Given the description of an element on the screen output the (x, y) to click on. 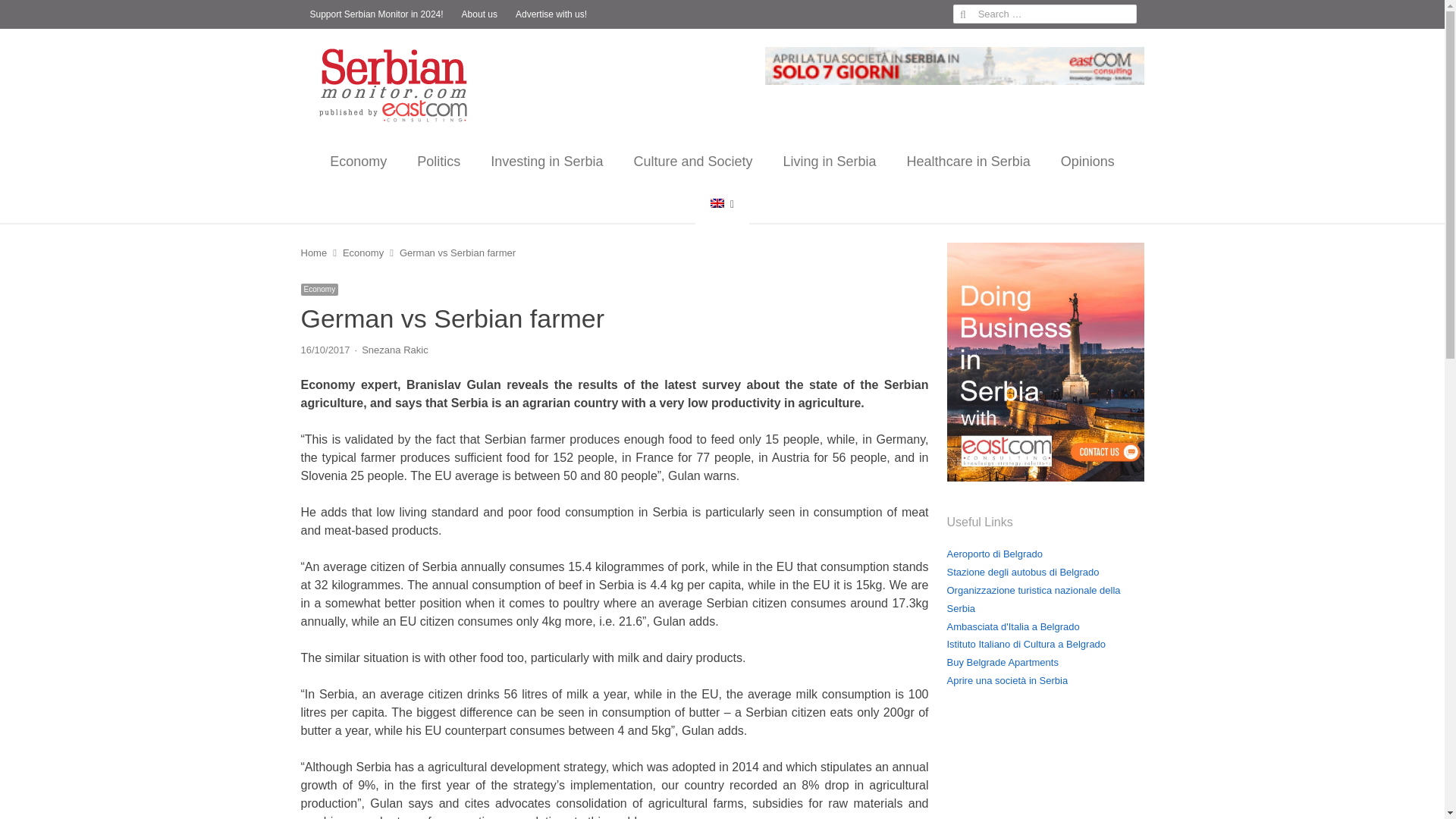
Organizzazione turistica nazionale della Serbia (1032, 599)
Istituto Italiano di Cultura a Belgrado (1025, 644)
Living in Serbia (829, 161)
Economy (357, 161)
Aeroporto di Belgrado (994, 553)
Home (312, 252)
Buy Belgrade Apartments (1002, 662)
Snezana Rakic (394, 349)
Ambasciata d''Italia a Belgrado (1012, 625)
Stazione degli autobus di Belgrado (1022, 572)
Economy (318, 289)
Healthcare in Serbia (968, 161)
Opinions (1087, 161)
Serbian Monitor (398, 84)
Support Serbian Monitor in 2024! (375, 13)
